Given the description of an element on the screen output the (x, y) to click on. 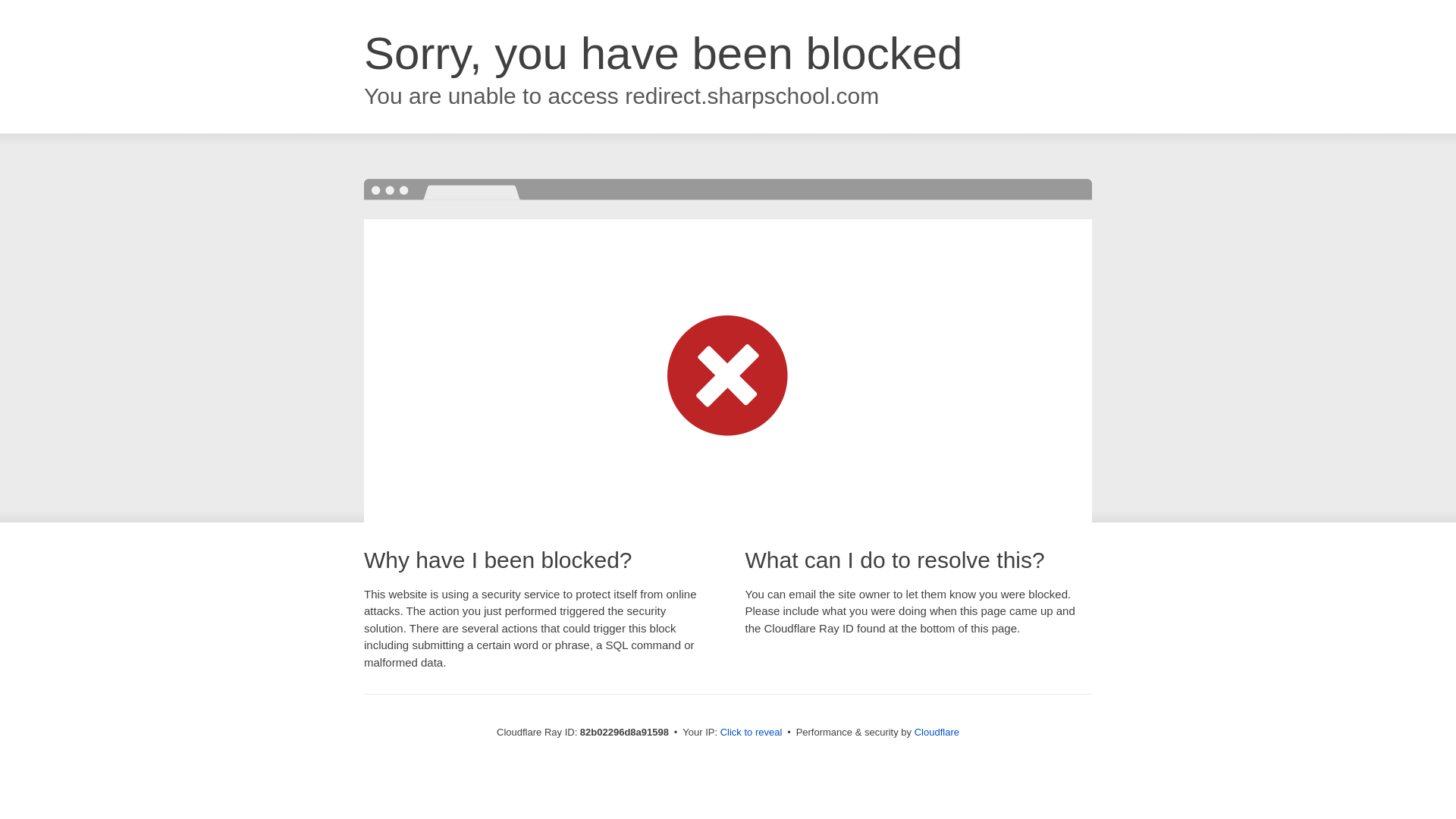
Cloudflare Element type: text (936, 731)
Click to reveal Element type: text (751, 732)
